Given the description of an element on the screen output the (x, y) to click on. 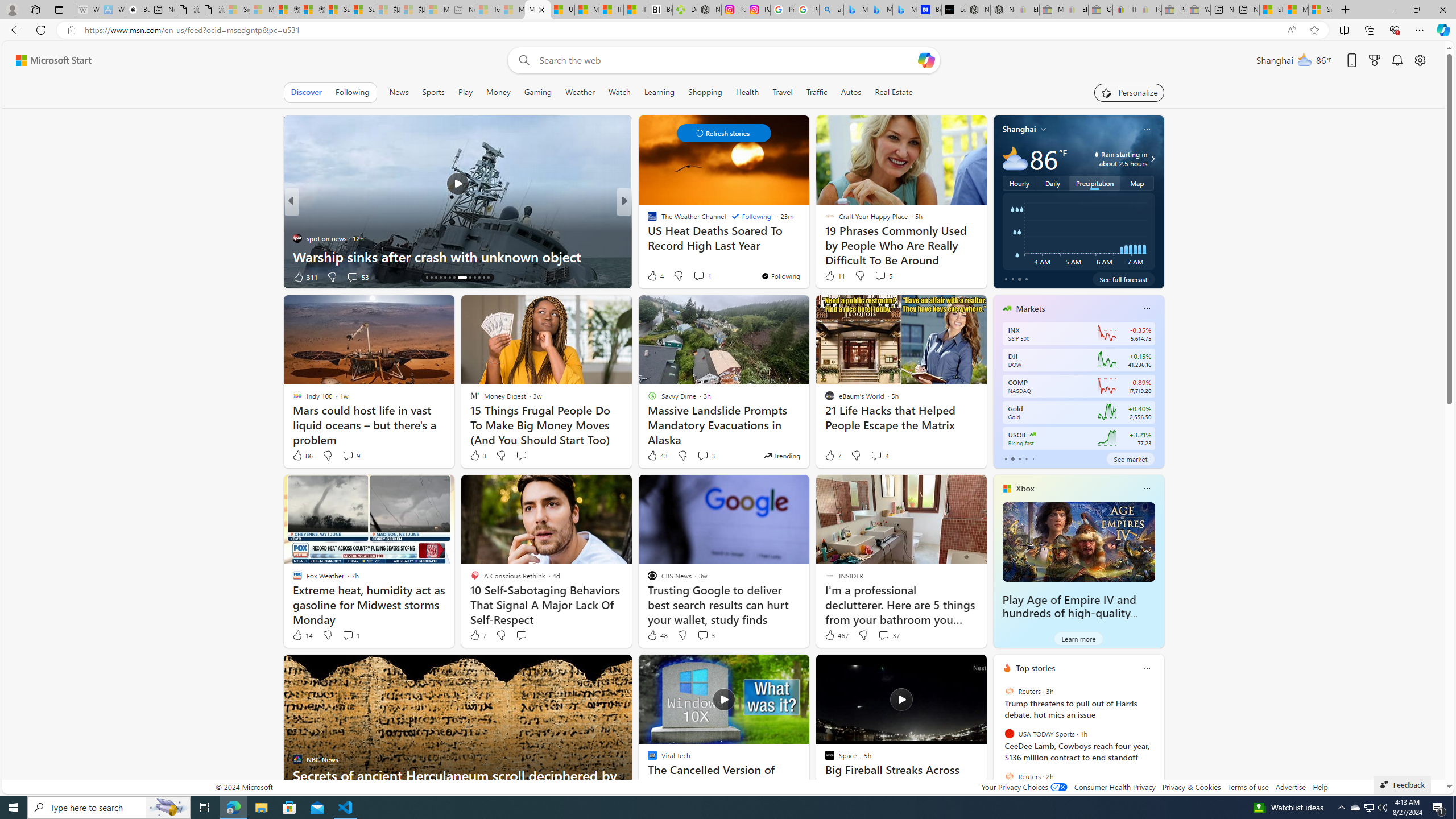
US Oil WTI (1032, 434)
AutomationID: tab-26 (488, 277)
tab-0 (1005, 458)
This story is trending (781, 455)
View comments 53 Comment (357, 276)
115 Like (654, 276)
AutomationID: tab-21 (461, 277)
A Conscious Rethink (647, 219)
Nordace - Nordace Edin Collection (708, 9)
